Given the description of an element on the screen output the (x, y) to click on. 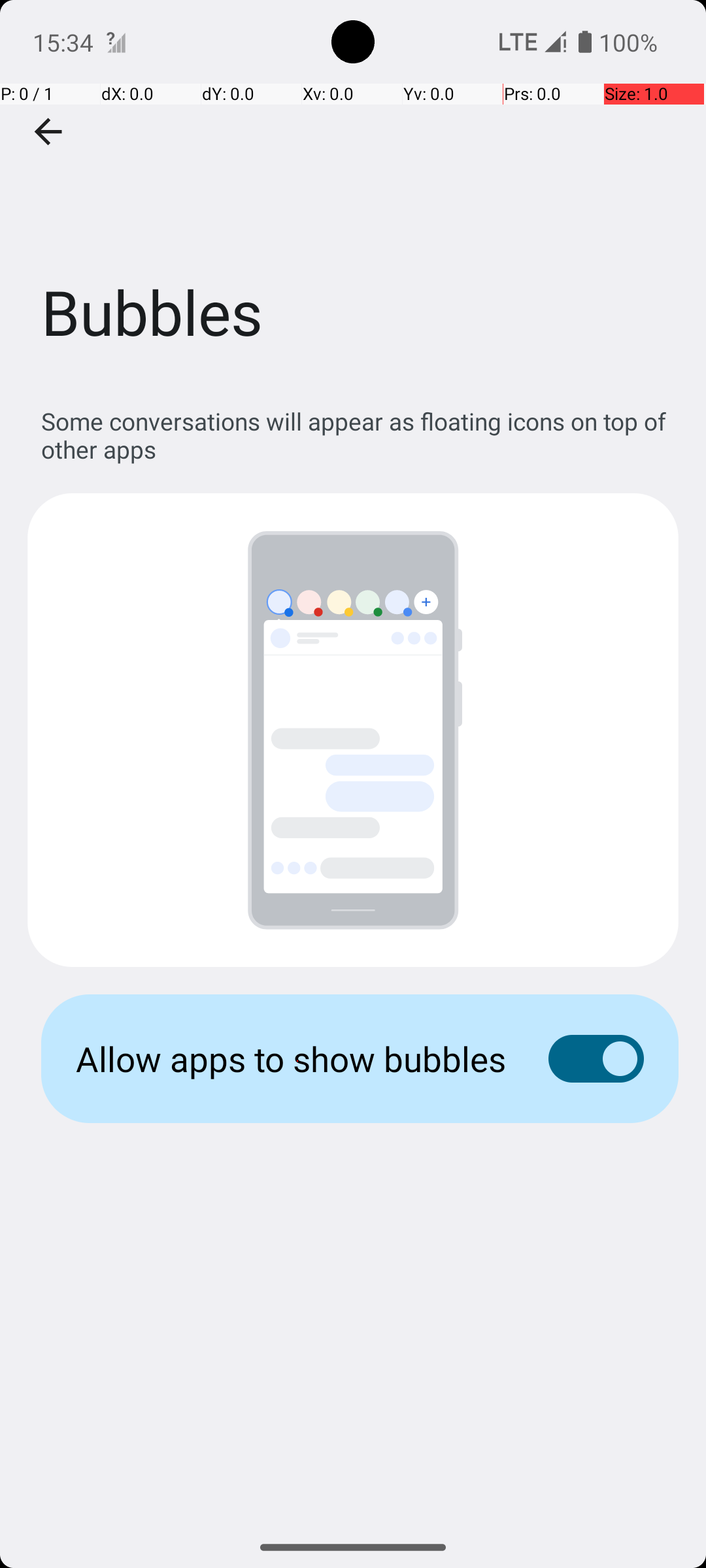
Some conversations will appear as floating icons on top of other apps Element type: android.widget.TextView (359, 434)
Allow apps to show bubbles Element type: android.widget.TextView (291, 1058)
